Given the description of an element on the screen output the (x, y) to click on. 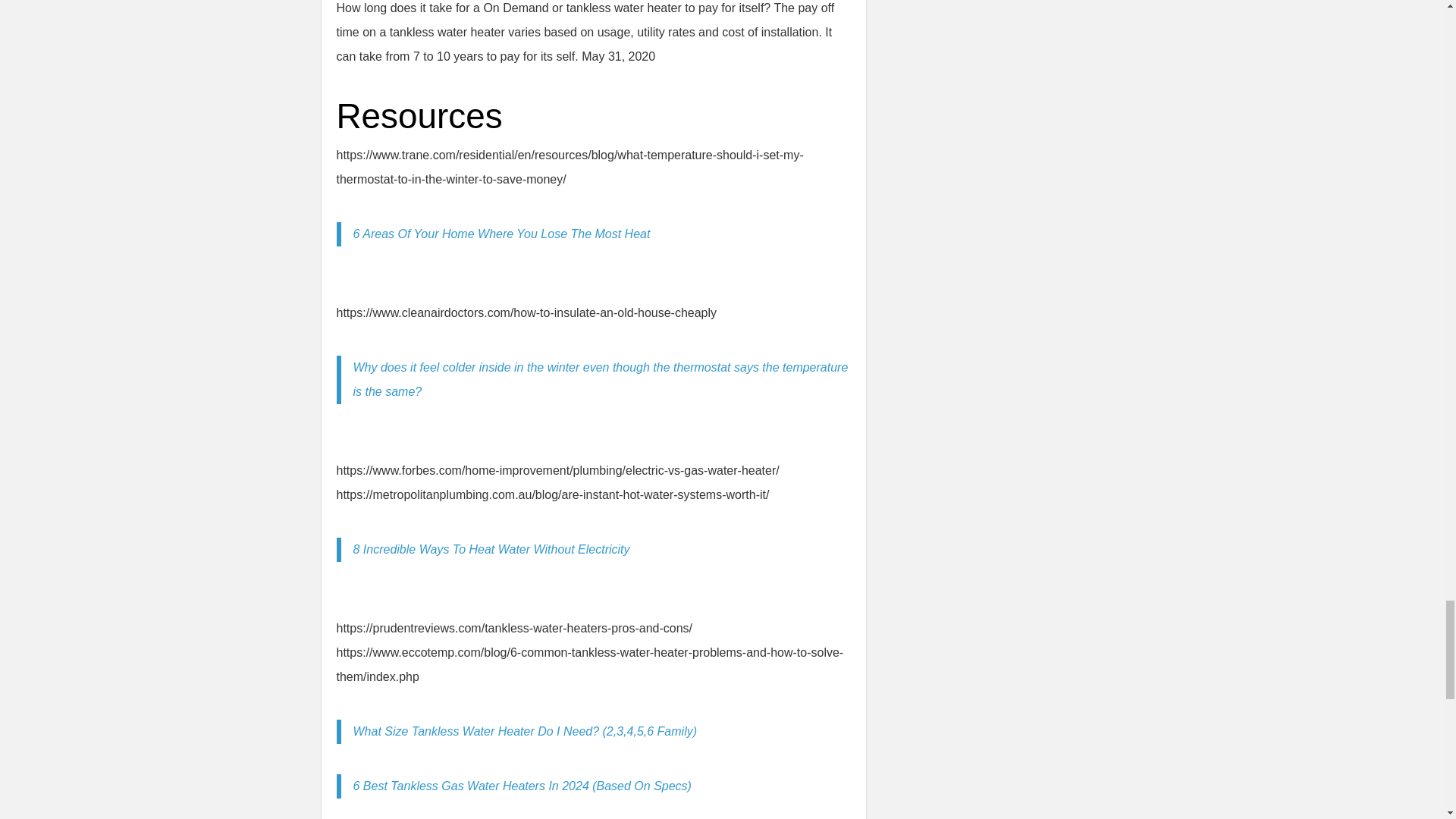
6 Areas Of Your Home Where You Lose The Most Heat (501, 233)
8 Incredible Ways To Heat Water Without Electricity (491, 549)
